Given the description of an element on the screen output the (x, y) to click on. 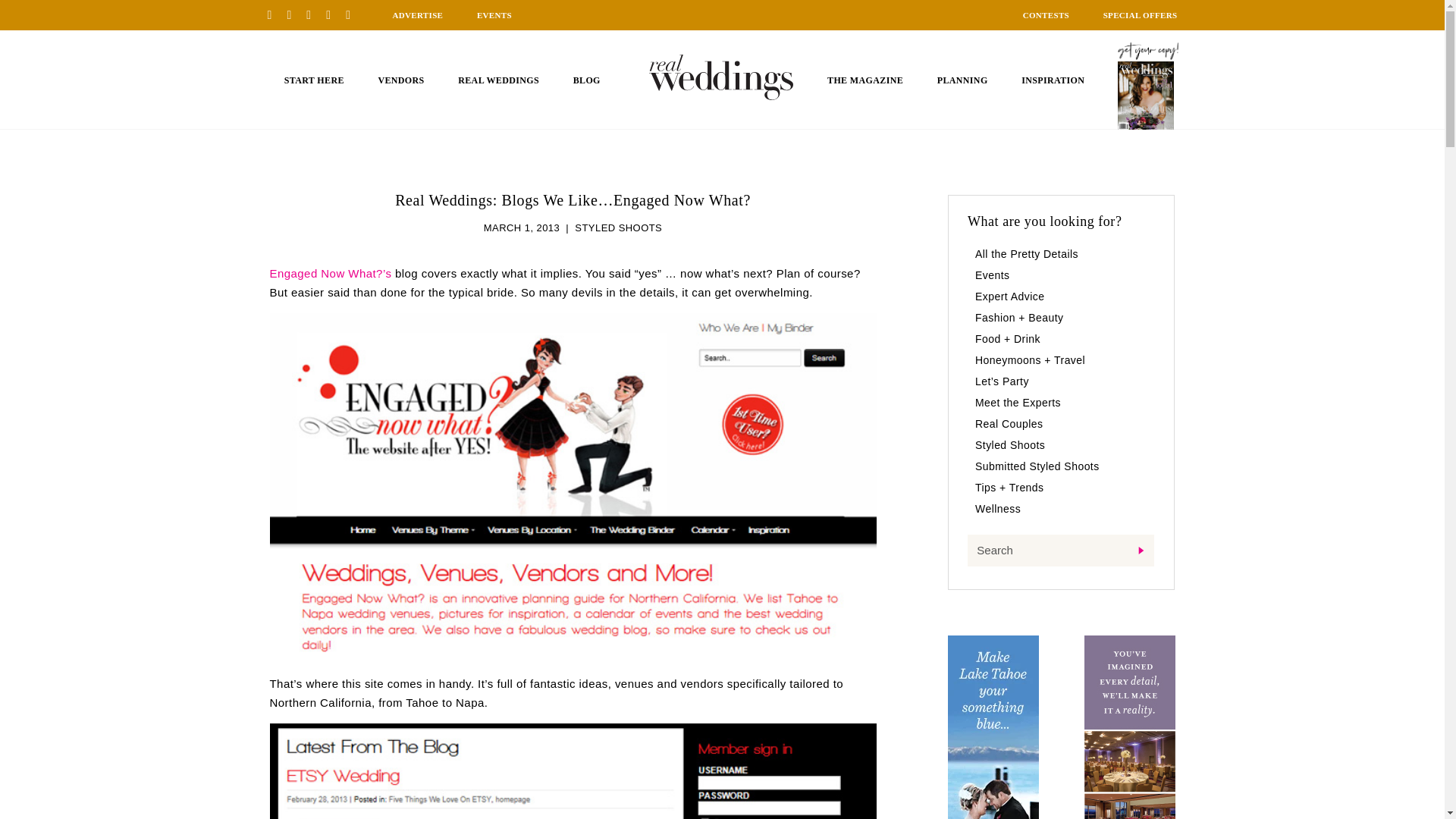
START HERE (313, 80)
VENDORS (400, 80)
REAL WEDDINGS (498, 80)
BLOG (586, 80)
SPECIAL OFFERS (1140, 14)
YouTube (353, 14)
THE MAGAZINE (864, 80)
Facebook (294, 14)
HOME (721, 76)
PLANNING (962, 80)
ADVERTISE (416, 14)
Search (1061, 550)
EVENTS (494, 14)
INSPIRATION (1053, 80)
Pinterest (274, 14)
